Given the description of an element on the screen output the (x, y) to click on. 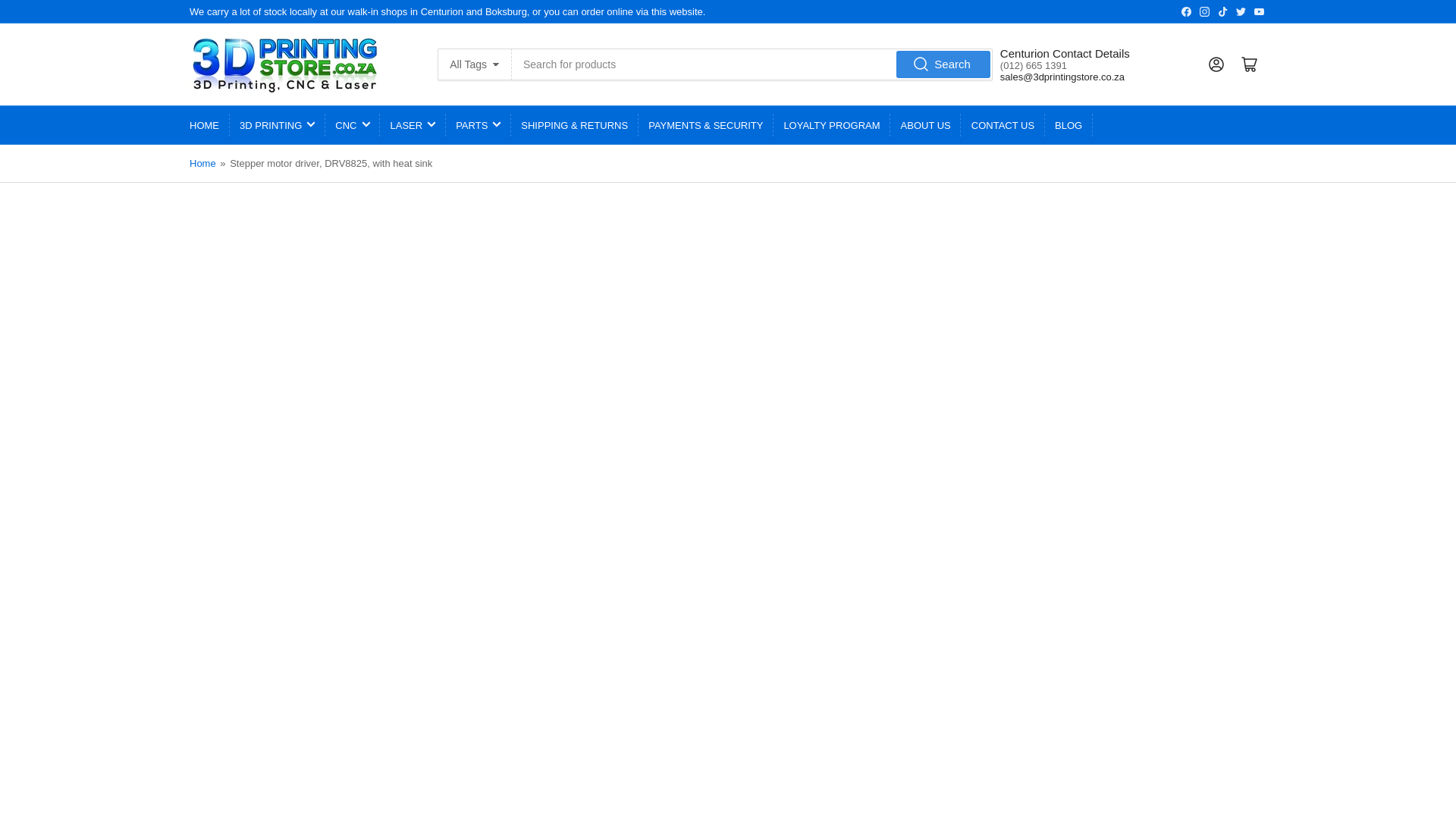
Instagram (1203, 11)
Log in (1216, 64)
Search (943, 63)
YouTube (1259, 11)
Open mini cart (1249, 64)
TikTok (1222, 11)
Twitter (1240, 11)
Facebook (1186, 11)
